Given the description of an element on the screen output the (x, y) to click on. 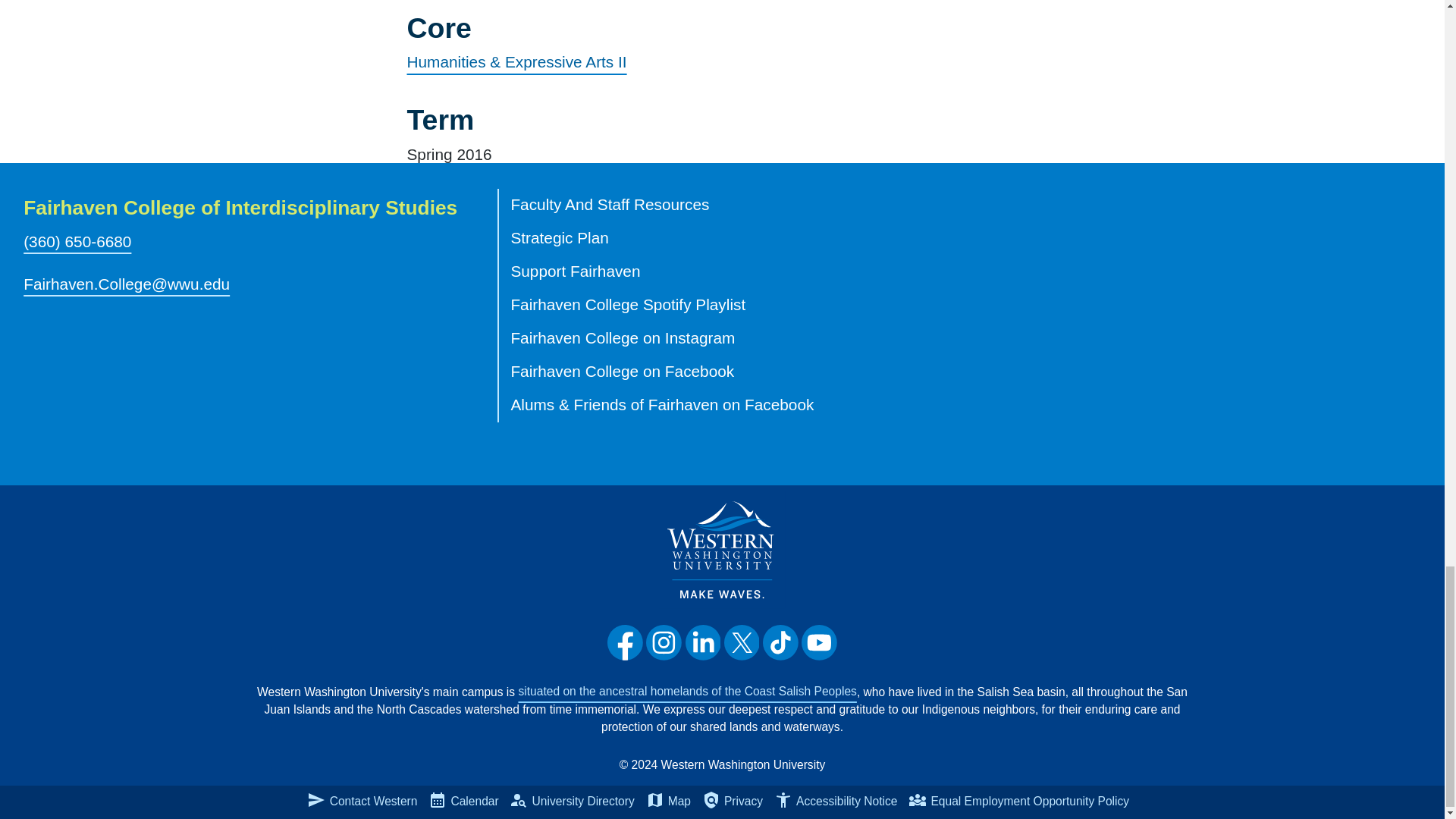
Western Logo (721, 549)
